Given the description of an element on the screen output the (x, y) to click on. 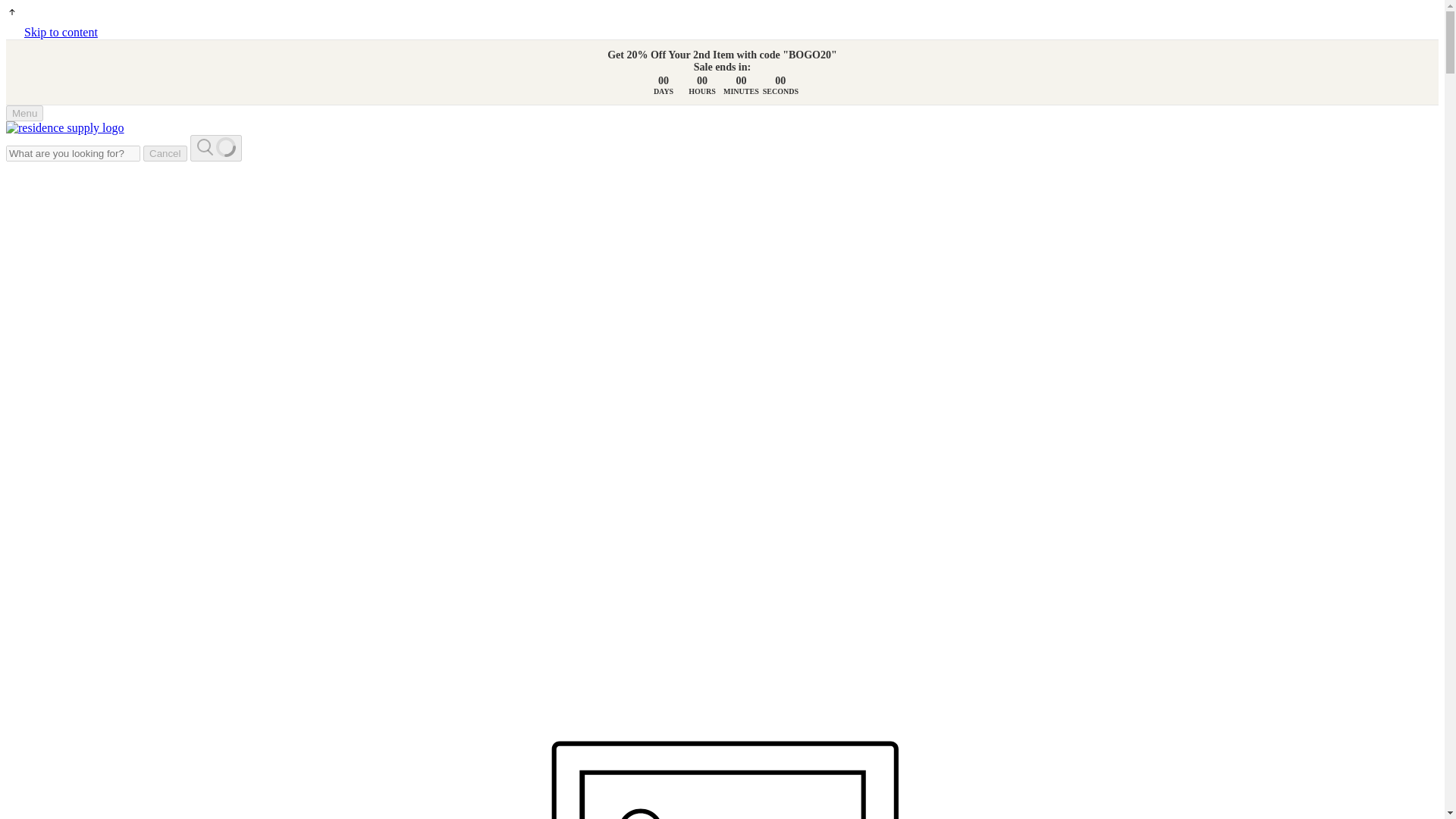
Cancel (164, 153)
Menu (24, 113)
Skip to content (60, 31)
